Given the description of an element on the screen output the (x, y) to click on. 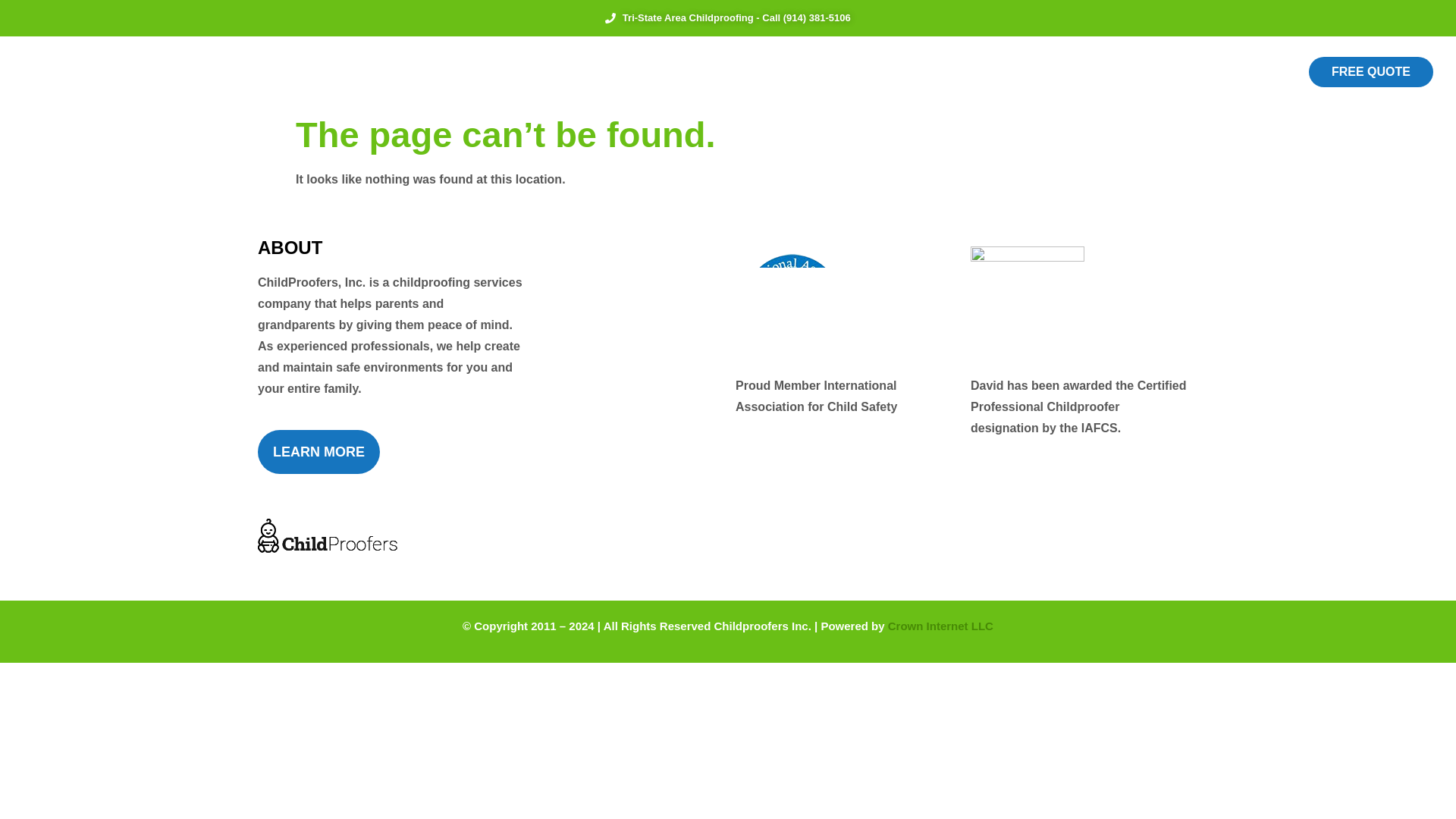
FREE QUOTE (1370, 71)
About Us (580, 71)
Home (508, 71)
Resources (746, 71)
LEARN MORE (318, 451)
Photo Gallery (849, 71)
Crown Internet LLC (940, 625)
Contact (940, 71)
Services (660, 71)
